Given the description of an element on the screen output the (x, y) to click on. 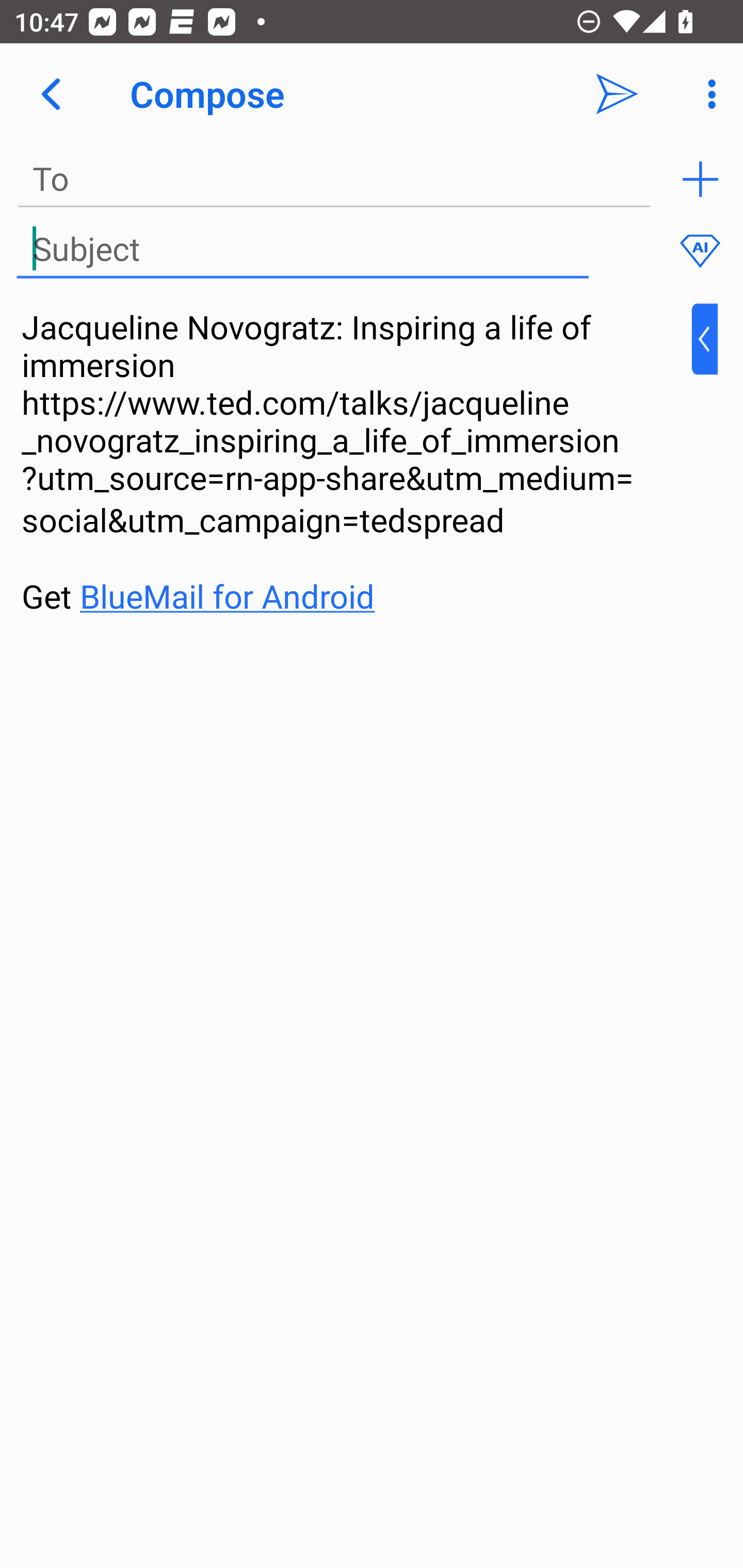
Navigate up (50, 93)
Send (616, 93)
More Options (706, 93)
To (334, 179)
Add recipient (To) (699, 179)
Subject (302, 249)
